Given the description of an element on the screen output the (x, y) to click on. 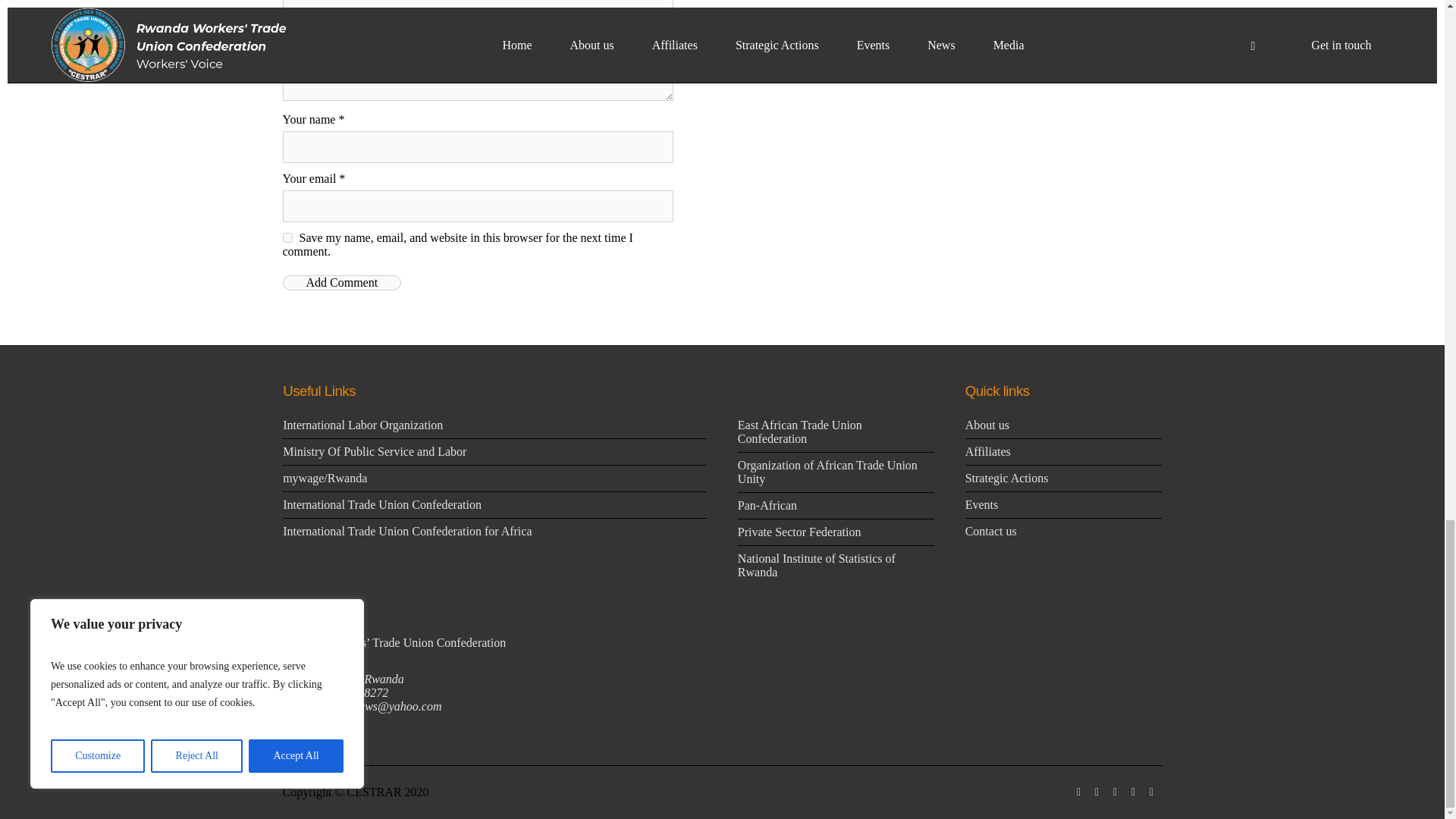
Add Comment (341, 282)
Linkedin (1078, 792)
Twitter (1132, 792)
Google (1114, 792)
yes (287, 237)
Skype (1150, 792)
Facebook (1096, 792)
